Given the description of an element on the screen output the (x, y) to click on. 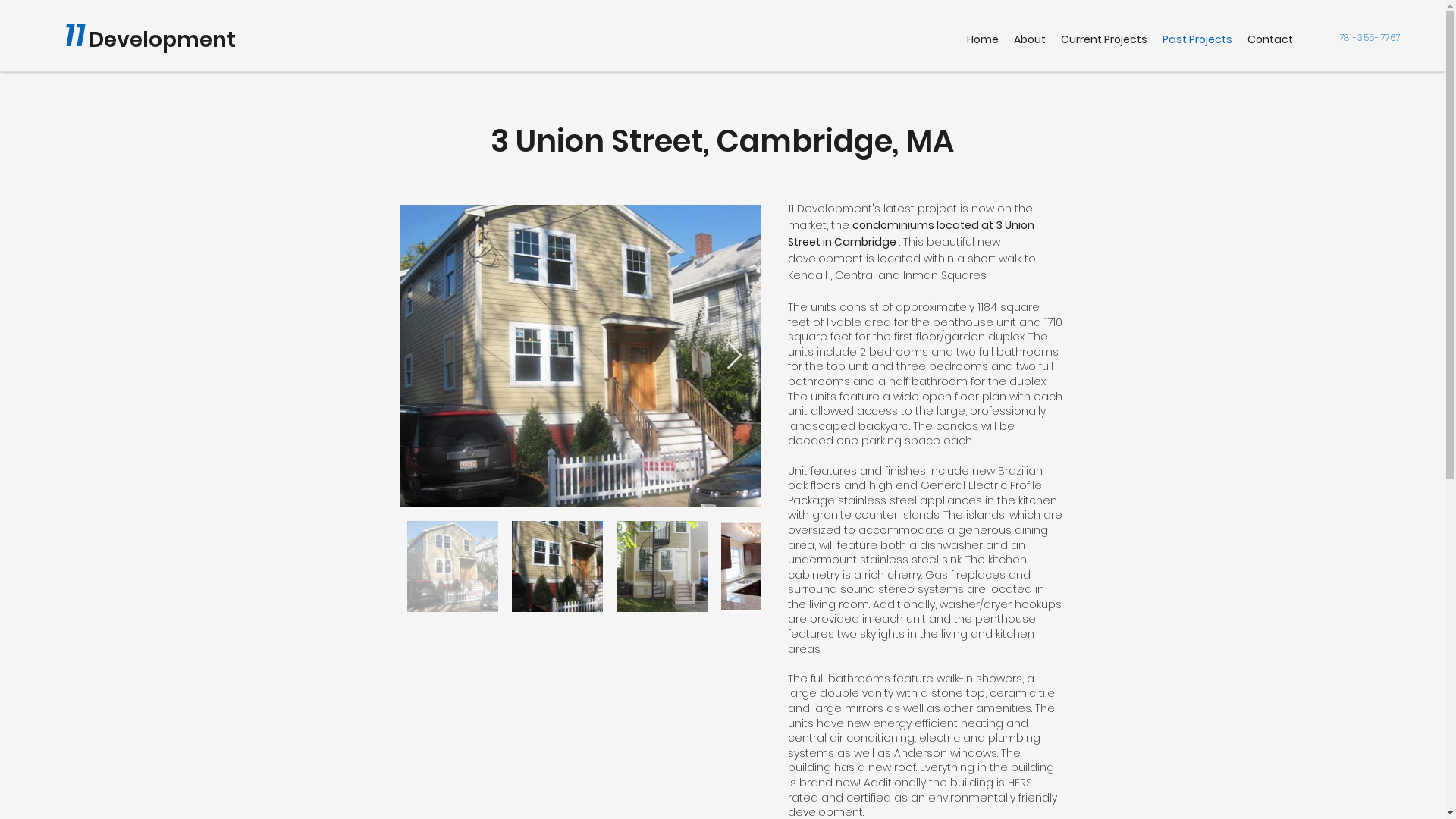
About Element type: text (1029, 39)
3 Union Street, Cambridge, MA Element type: text (721, 140)
11 Element type: text (74, 34)
Past Projects Element type: text (1196, 39)
Home Element type: text (982, 39)
Development Element type: text (161, 39)
Contact Element type: text (1269, 39)
Current Projects Element type: text (1103, 39)
